Given the description of an element on the screen output the (x, y) to click on. 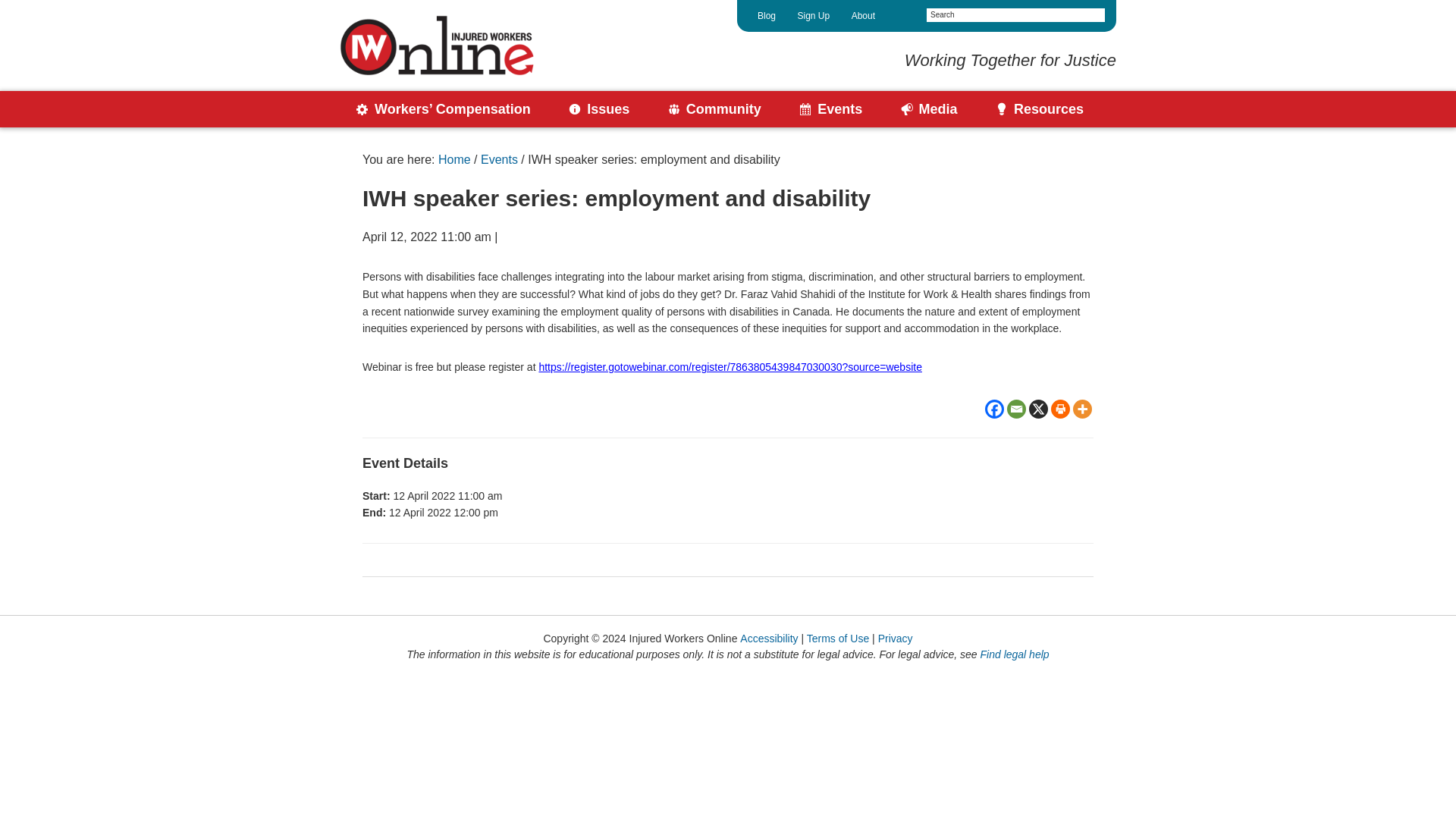
Sign Up (812, 15)
About (863, 15)
X (1038, 408)
Community (714, 108)
Blog (766, 15)
Events (831, 108)
Search (1092, 15)
Print (1060, 408)
More (1082, 408)
